Given the description of an element on the screen output the (x, y) to click on. 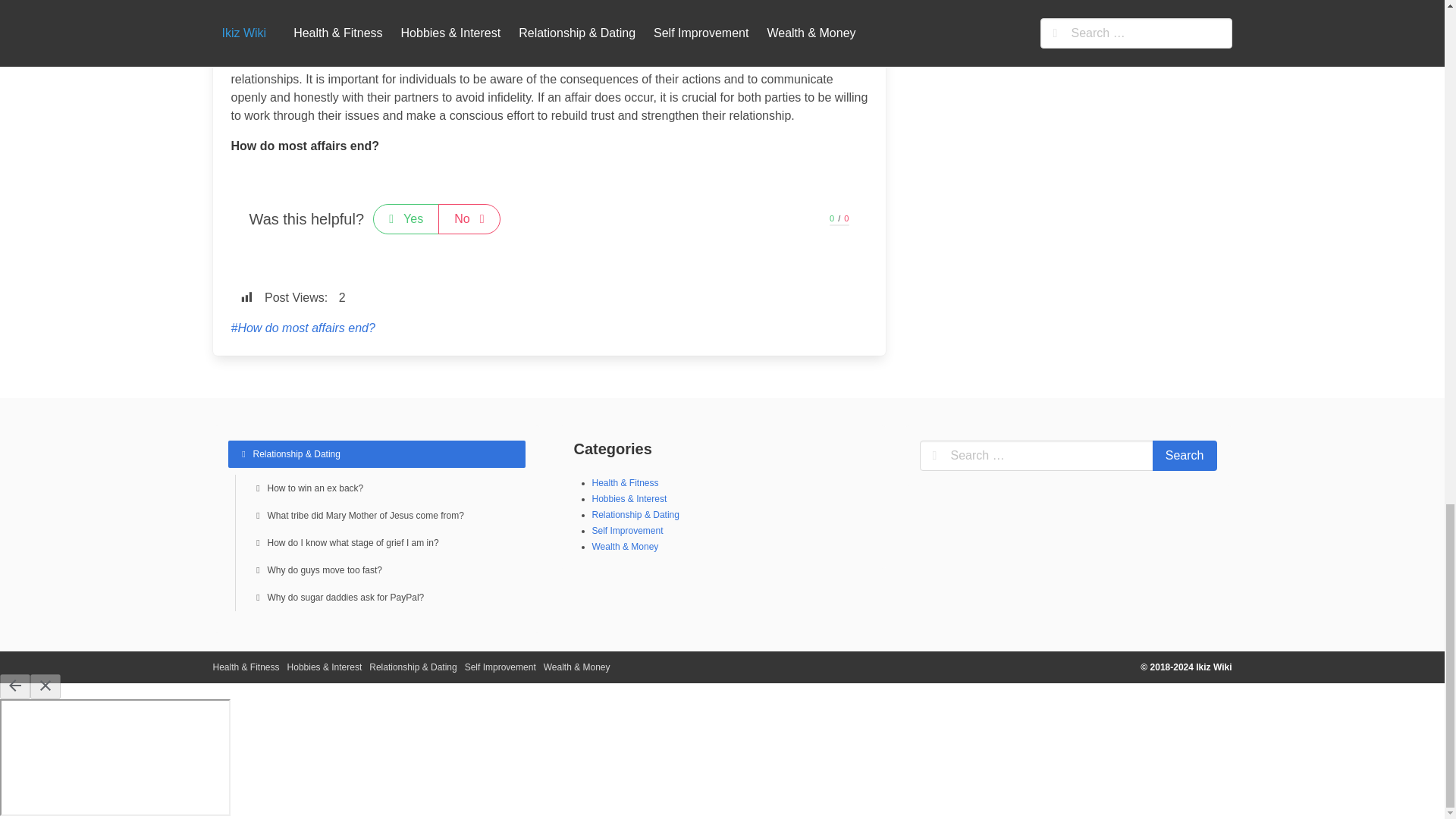
Search (1185, 455)
Yes (405, 218)
No (468, 218)
